Given the description of an element on the screen output the (x, y) to click on. 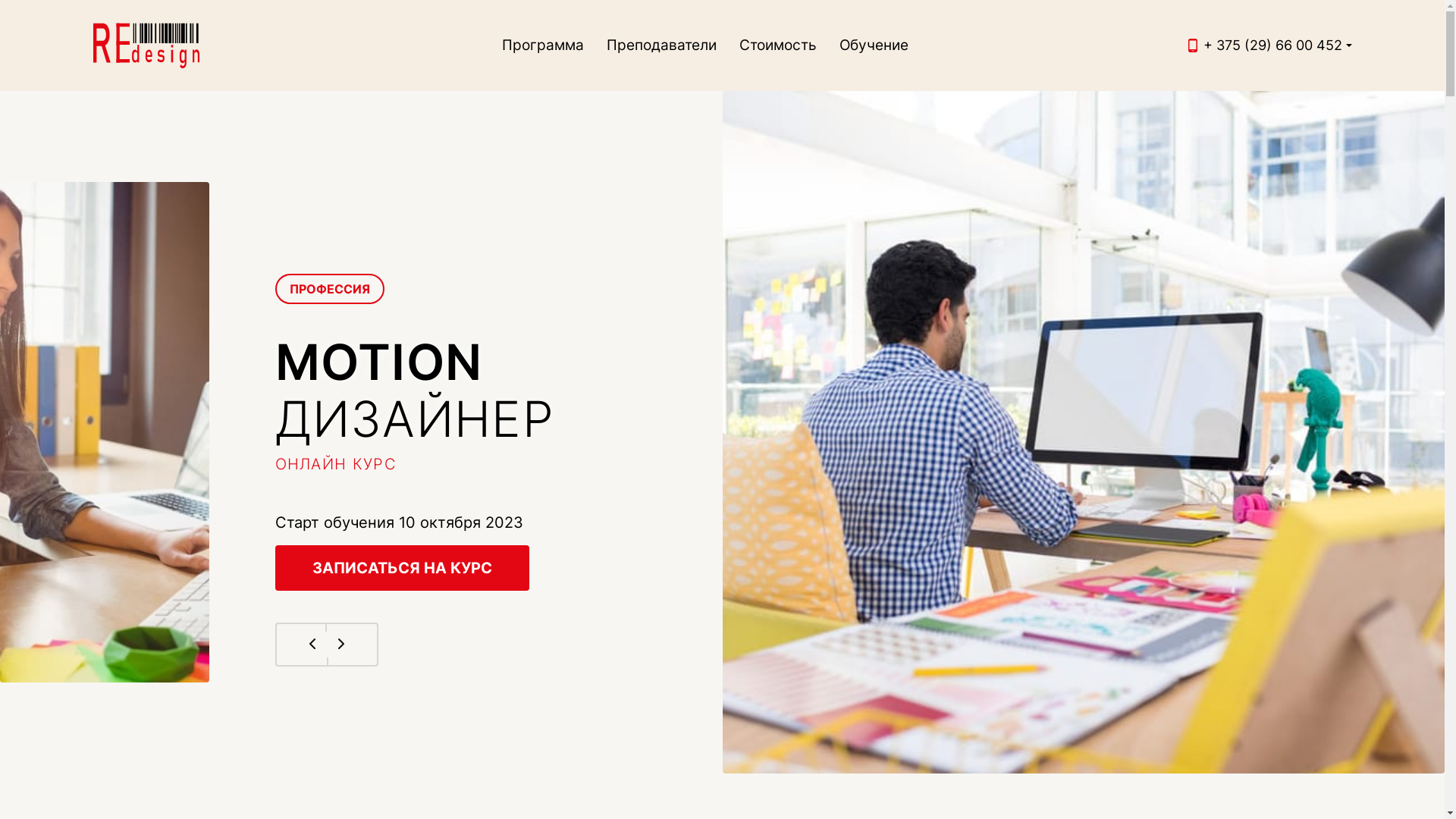
+ 375 (29) 66 00 452 Element type: text (1271, 45)
